Given the description of an element on the screen output the (x, y) to click on. 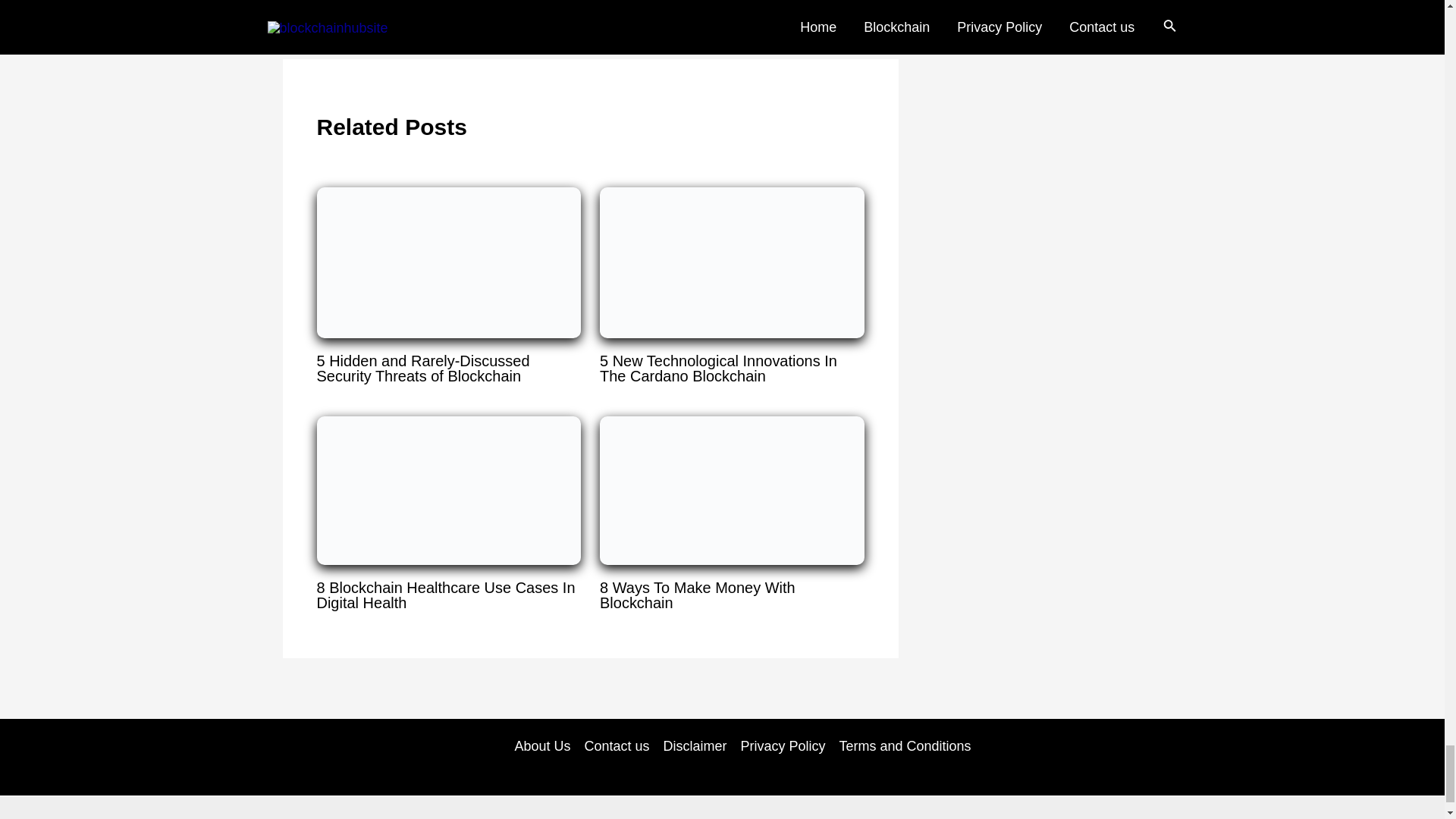
How do I access a tether wallet in blockchain? (320, 17)
